Given the description of an element on the screen output the (x, y) to click on. 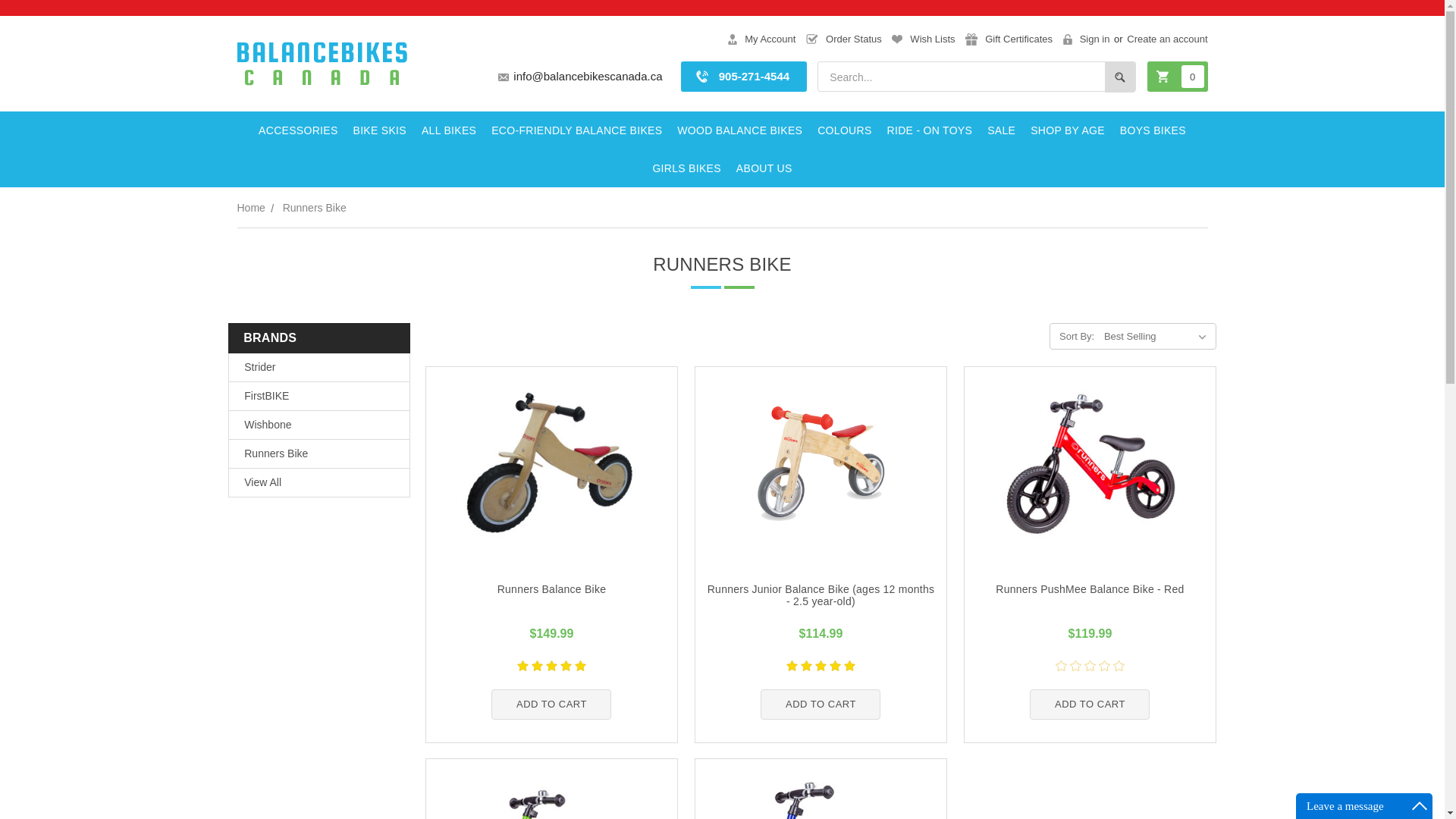
Runners Junior Balance Bike (820, 463)
SHOP BY AGE (1067, 130)
Runners Balance Bike Wooden  (550, 463)
ABOUT US (764, 168)
Wish Lists (923, 38)
Order Status (844, 38)
COLOURS (844, 130)
Runners PushMee Red (1089, 463)
GIRLS BIKES (686, 168)
SALE (1001, 130)
Runners PushMee Balance Bike Green (552, 800)
call: 905-271-4544 (743, 76)
Home (249, 207)
Search (1120, 77)
Balance Bikes Canada (320, 63)
